Given the description of an element on the screen output the (x, y) to click on. 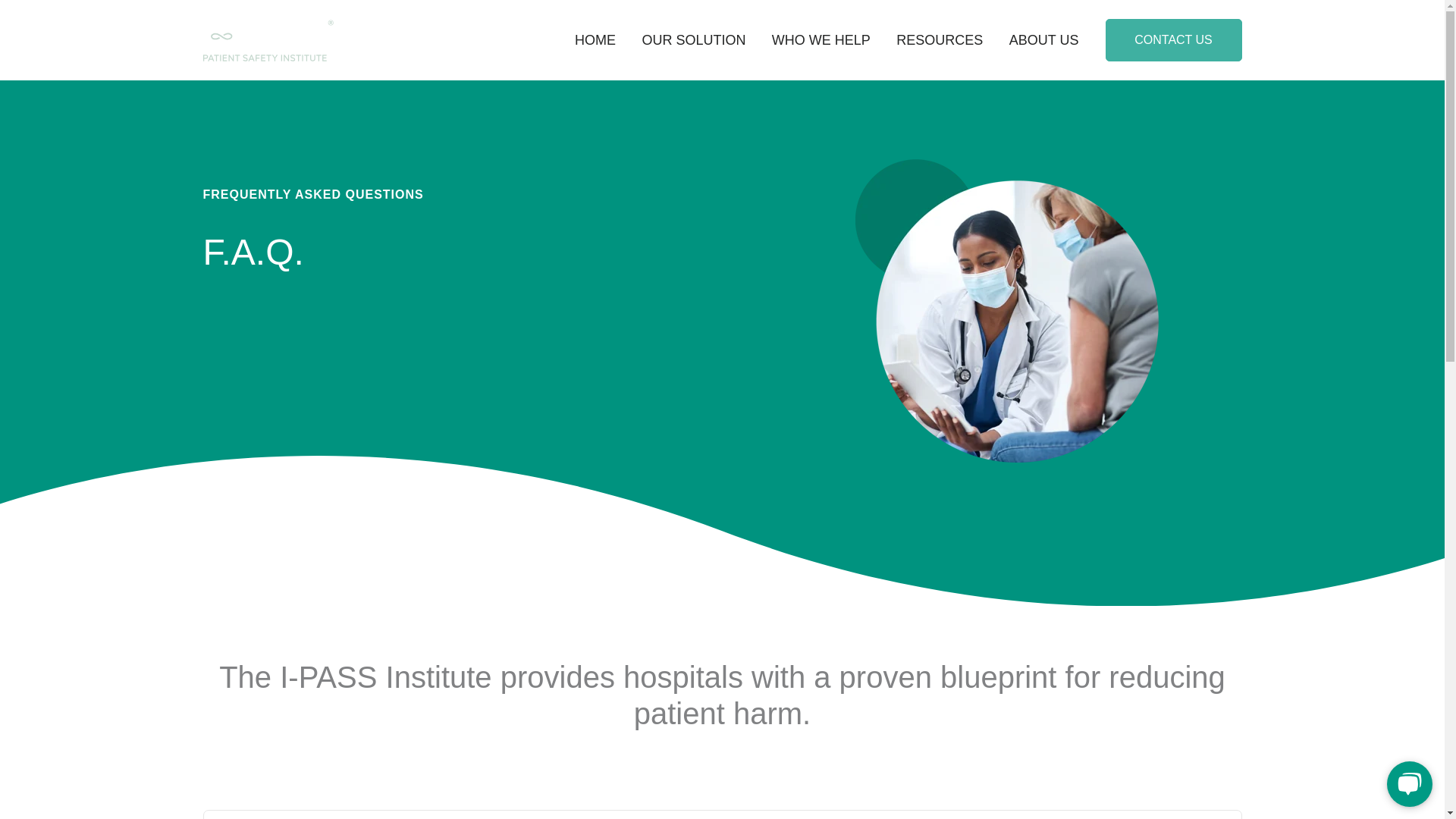
ABOUT US (1043, 38)
Contact Us (1173, 39)
OUR SOLUTION (693, 38)
CONTACT US (1173, 39)
RESOURCES (939, 38)
HOME (595, 38)
WHO WE HELP (820, 38)
